Given the description of an element on the screen output the (x, y) to click on. 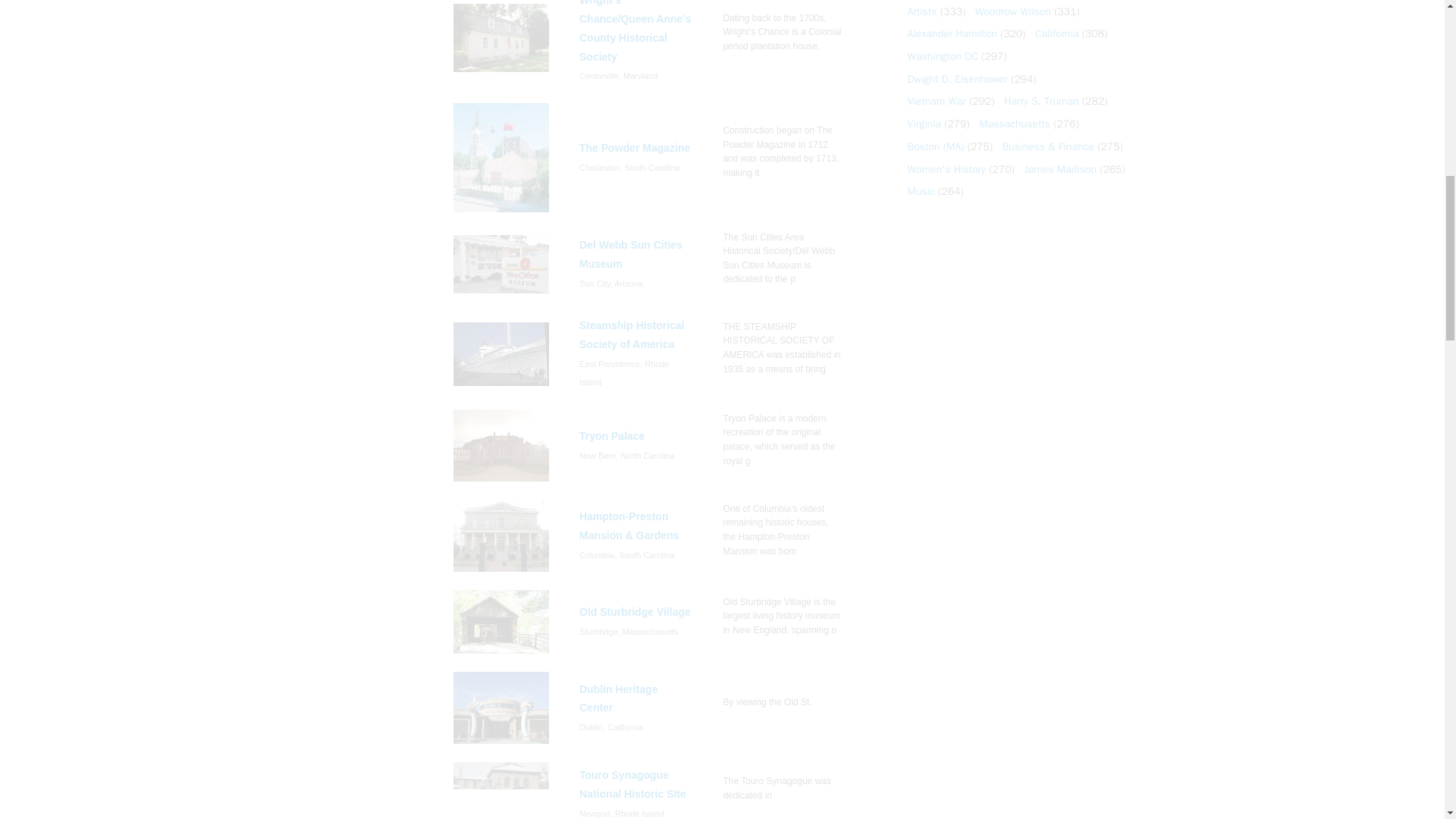
Touro Synagogue National Historic Site (501, 790)
Del Webb Sun Cities Museum  (501, 264)
Tryon Palace (501, 445)
Dublin Heritage Center (501, 707)
Steamship Historical Society of America (501, 353)
Old Sturbridge Village (501, 621)
